Given the description of an element on the screen output the (x, y) to click on. 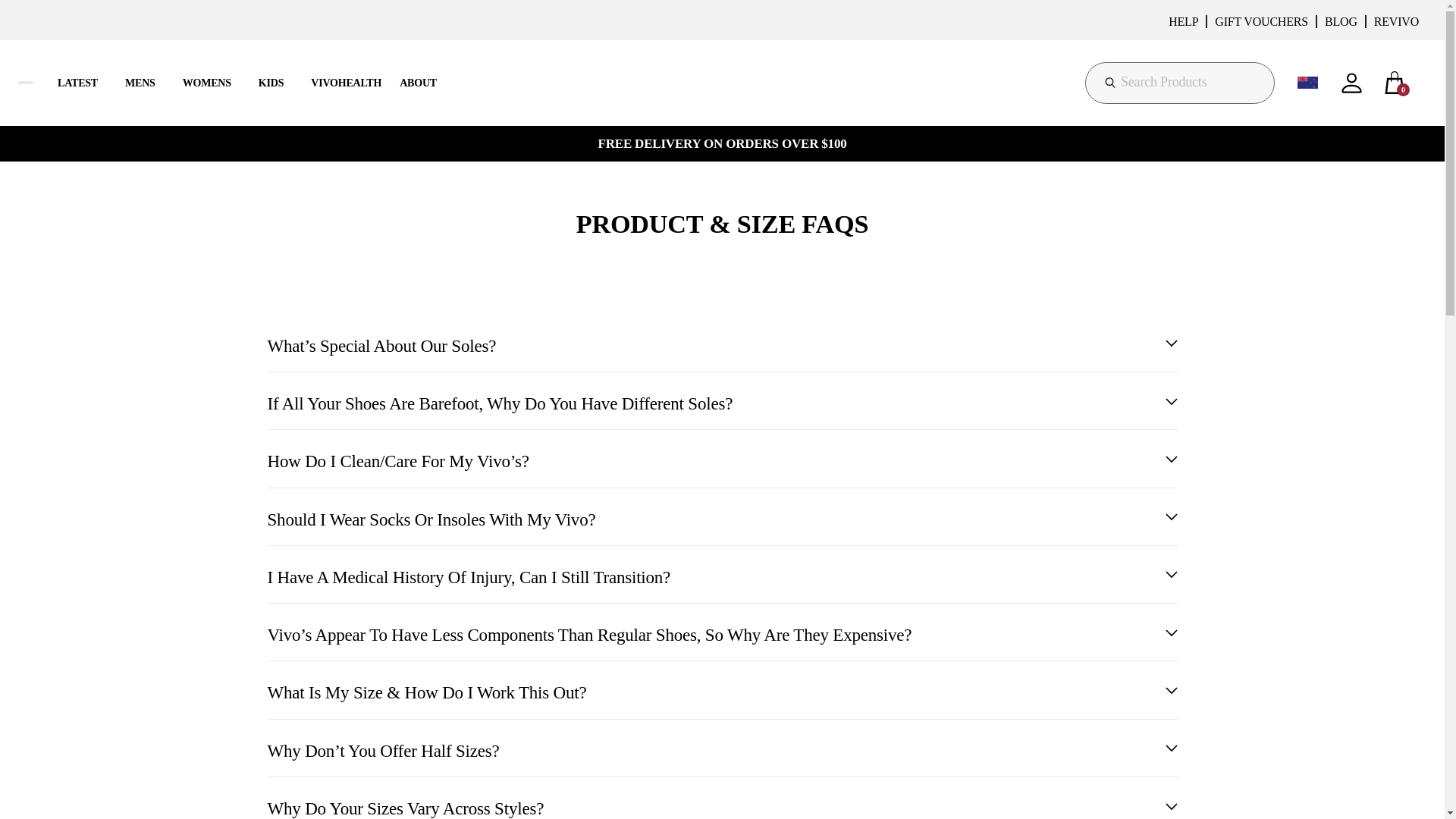
REVIVO (1395, 21)
BLOG (1340, 21)
GIFT VOUCHERS (1260, 21)
